Given the description of an element on the screen output the (x, y) to click on. 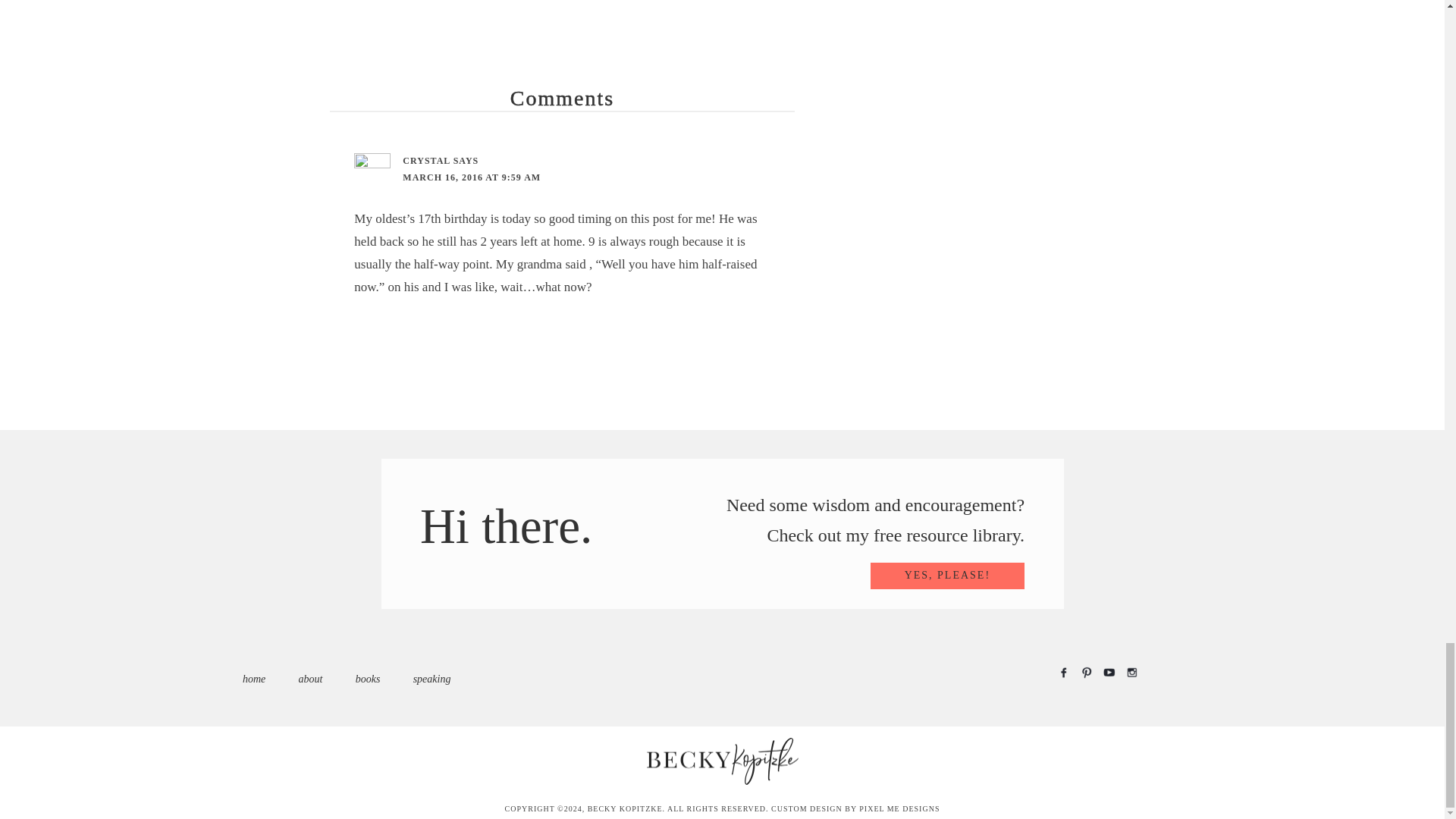
home (253, 678)
YES, PLEASE! (947, 575)
about (310, 678)
books (367, 678)
CRYSTAL (426, 160)
MARCH 16, 2016 AT 9:59 AM (471, 176)
